Given the description of an element on the screen output the (x, y) to click on. 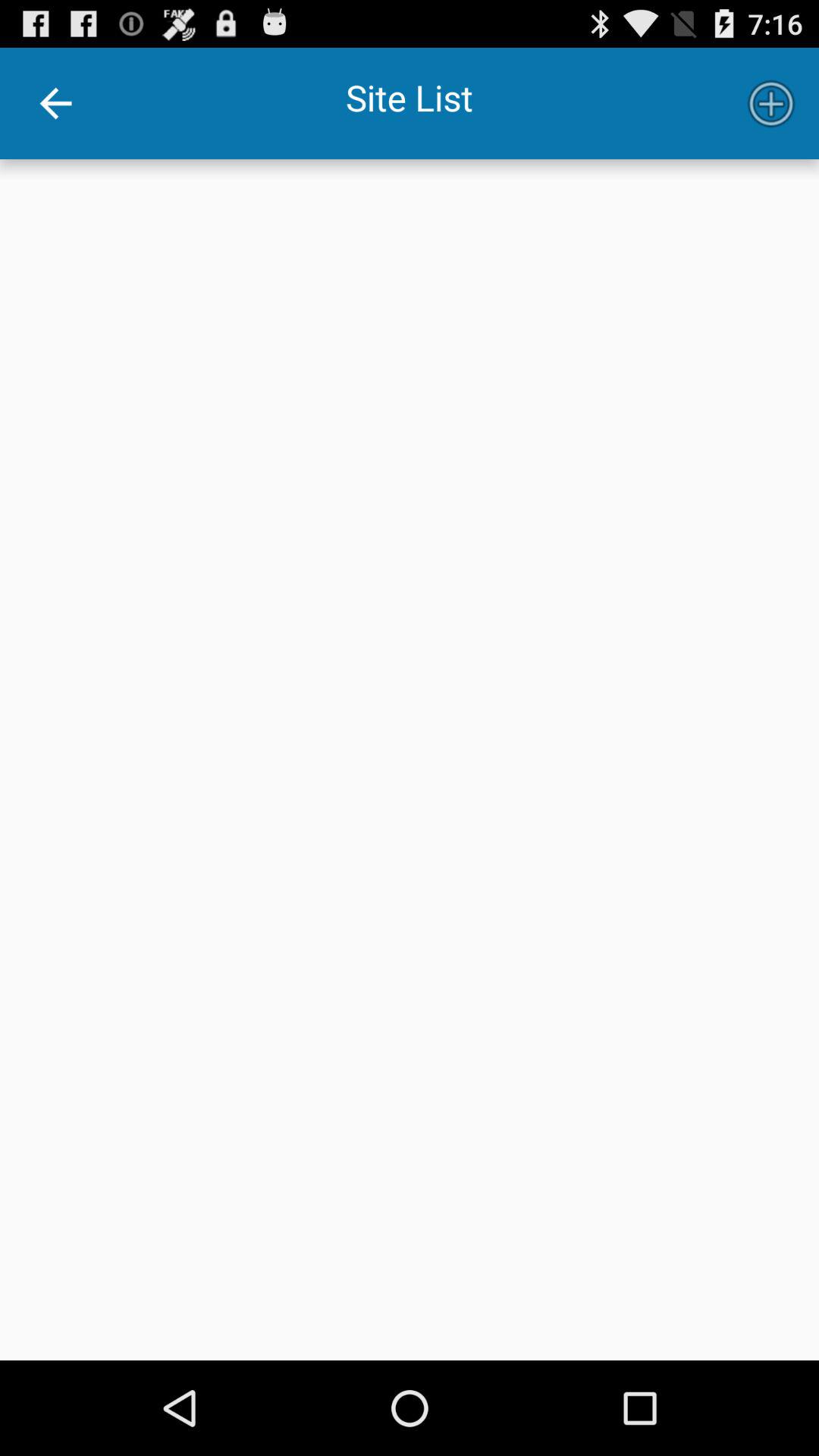
open the icon at the center (409, 759)
